Given the description of an element on the screen output the (x, y) to click on. 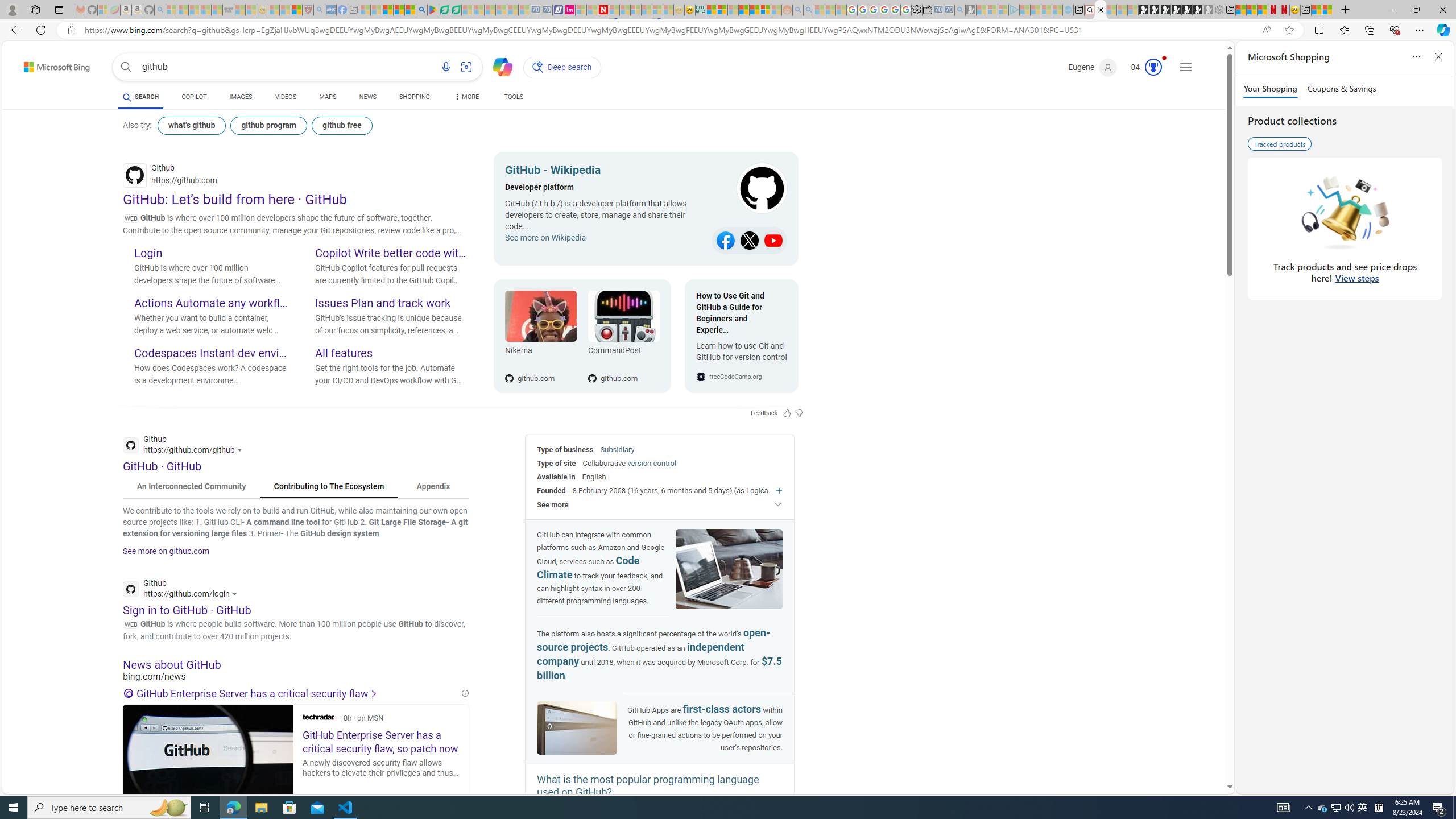
See more on github.com (165, 551)
Bluey: Let's Play! - Apps on Google Play (433, 9)
Image of GitHub (577, 728)
Search using an image (465, 66)
Latest Politics News & Archive | Newsweek.com (602, 9)
CommandPost CommandPost github.com (617, 335)
